Given the description of an element on the screen output the (x, y) to click on. 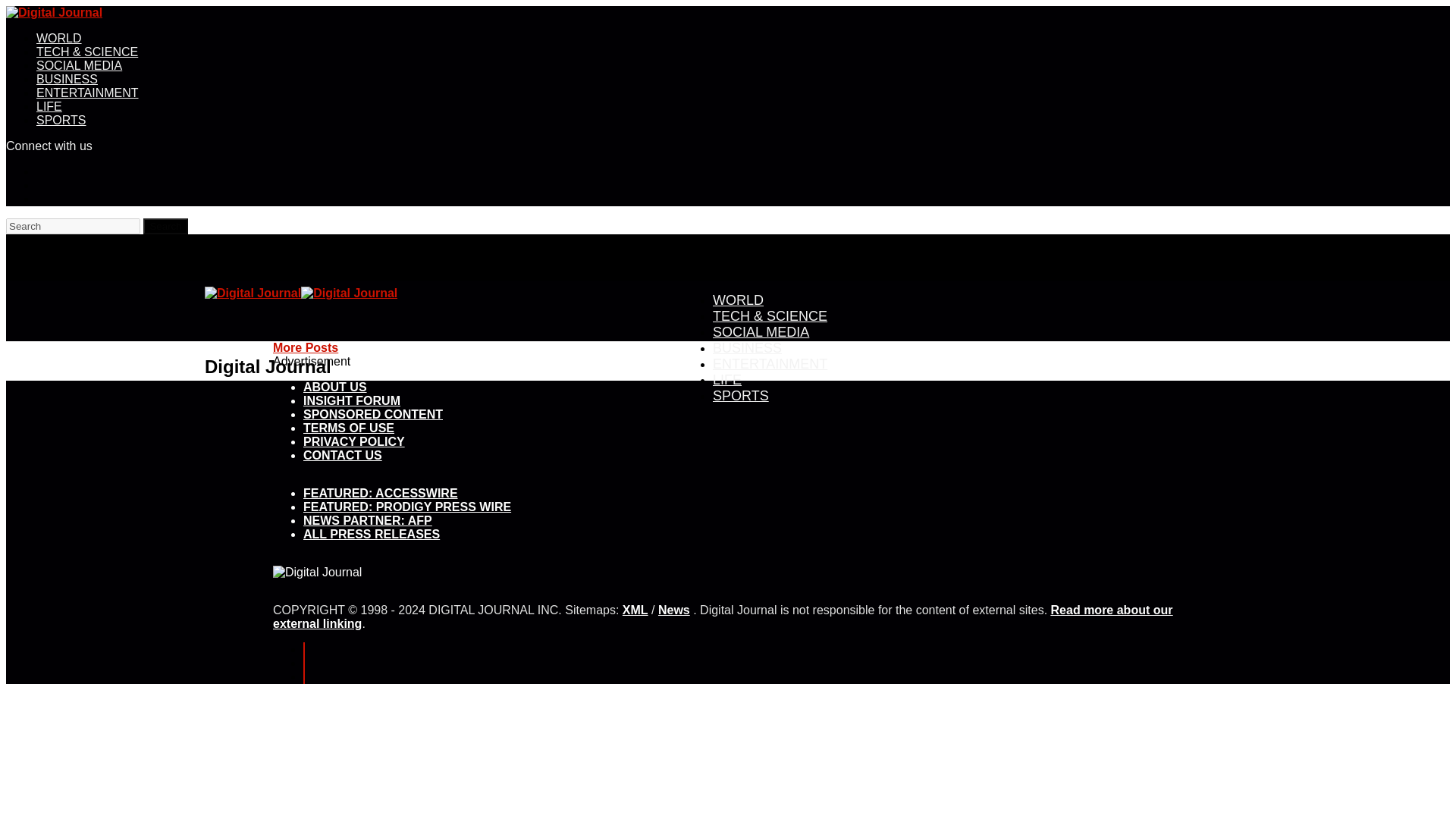
SOCIAL MEDIA (79, 65)
SPORTS (60, 119)
TERMS OF USE (348, 427)
Read more about our external linking (722, 616)
News (674, 609)
LIFE (49, 106)
Search (164, 226)
NEWS PARTNER: AFP (367, 520)
FEATURED: ACCESSWIRE (380, 492)
WORLD (58, 38)
ALL PRESS RELEASES (370, 533)
SPORTS (740, 395)
ABOUT US (334, 386)
More Posts (305, 347)
ENTERTAINMENT (87, 92)
